Given the description of an element on the screen output the (x, y) to click on. 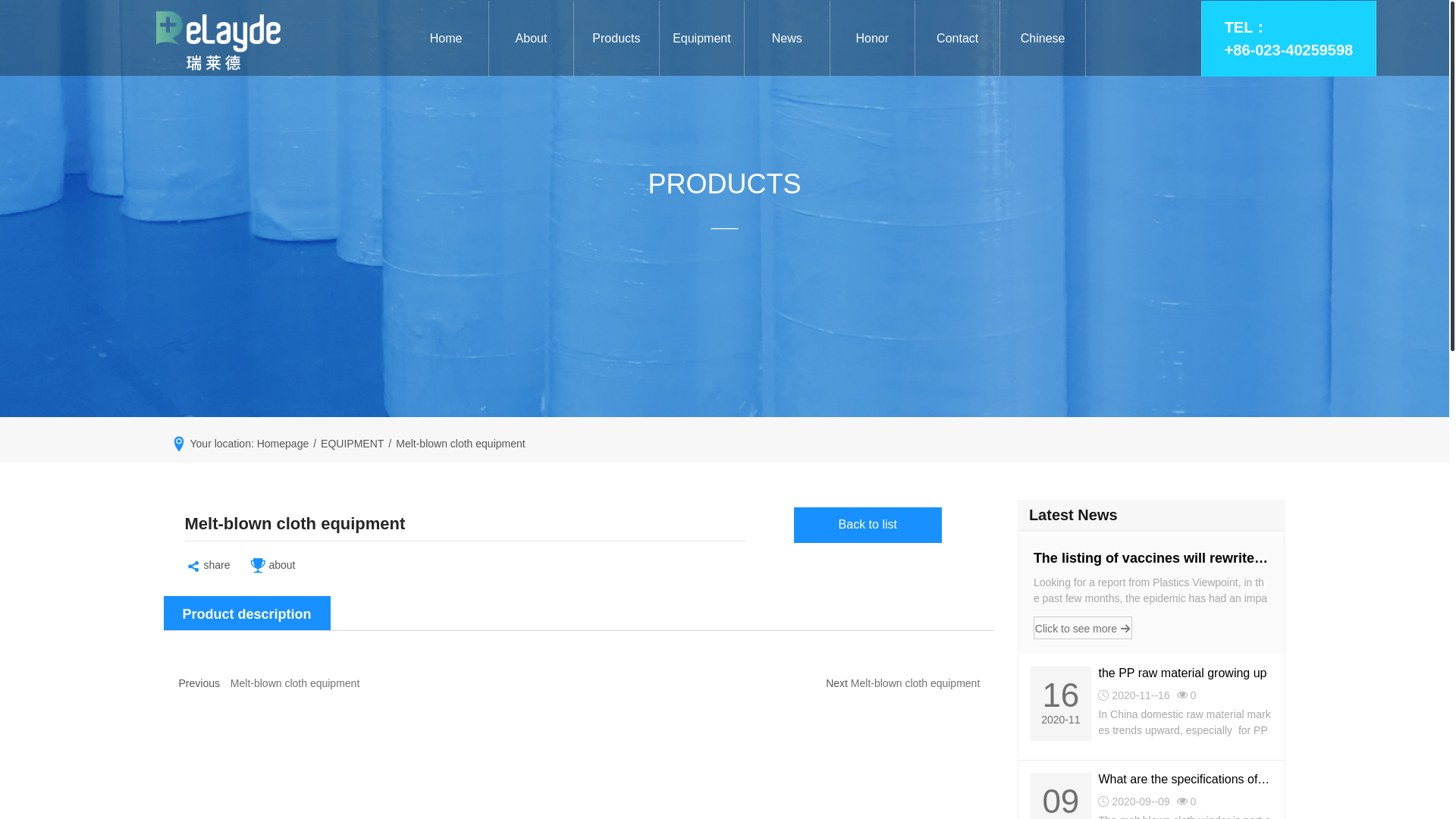
Chinese (1042, 38)
Honor (871, 38)
EQUIPMENT (352, 443)
Equipment (701, 38)
News (786, 38)
About (531, 38)
Melt-blown cloth equipment (294, 683)
Products (615, 38)
Homepage (282, 443)
about (271, 564)
relayde (217, 38)
Back to list (867, 527)
Home (445, 38)
Melt-blown cloth equipment (914, 683)
share (207, 564)
